Given the description of an element on the screen output the (x, y) to click on. 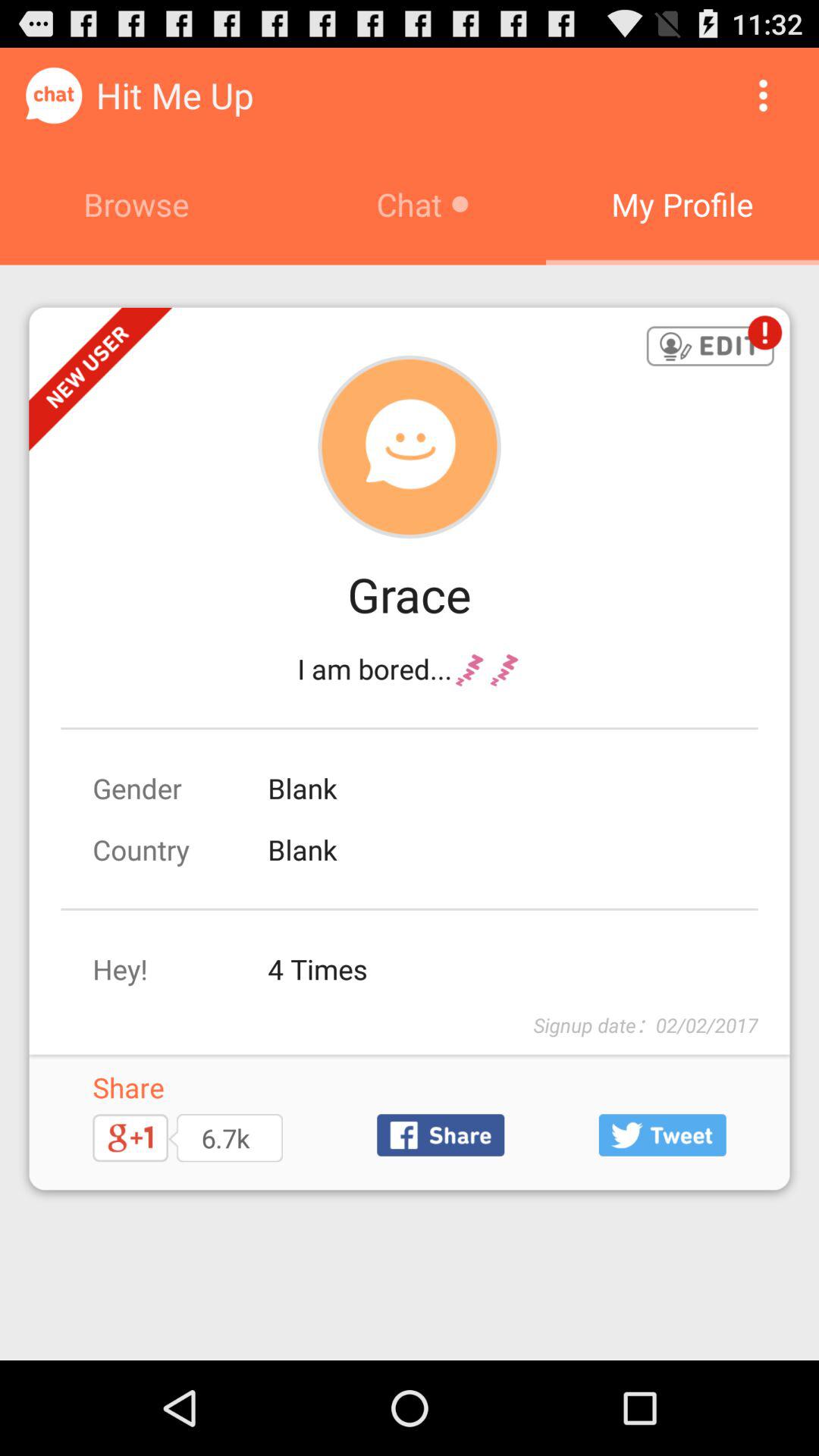
turn off button to the right of browse (763, 95)
